Given the description of an element on the screen output the (x, y) to click on. 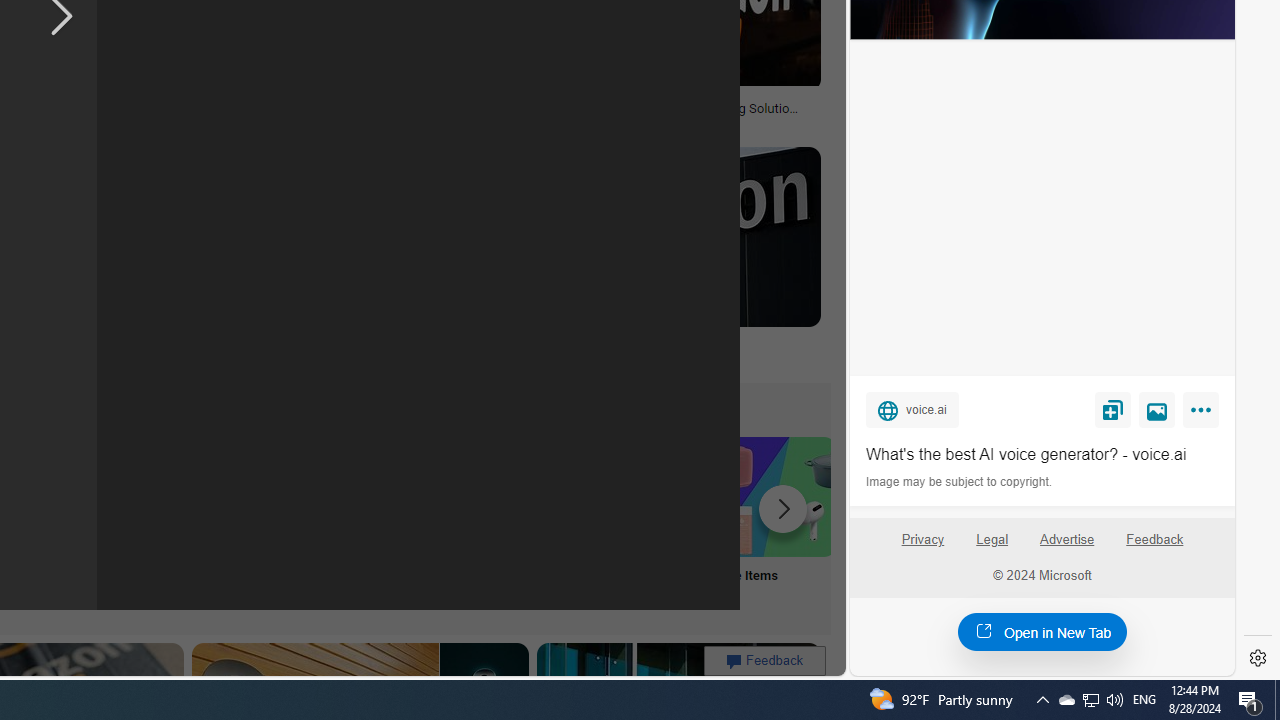
Image may be subject to copyright. (959, 481)
cordcuttersnews.com (331, 359)
Save (1112, 409)
Amazon Sale Items (775, 496)
Privacy (922, 547)
Prime Label (511, 521)
Sale Items (775, 521)
What's the best AI voice generator? - voice.ai (1042, 454)
Amazon Prime Shopping Online (380, 496)
Amazon Mini TV Mini TV (116, 521)
mobilemarketingmagazine.com (651, 123)
